Given the description of an element on the screen output the (x, y) to click on. 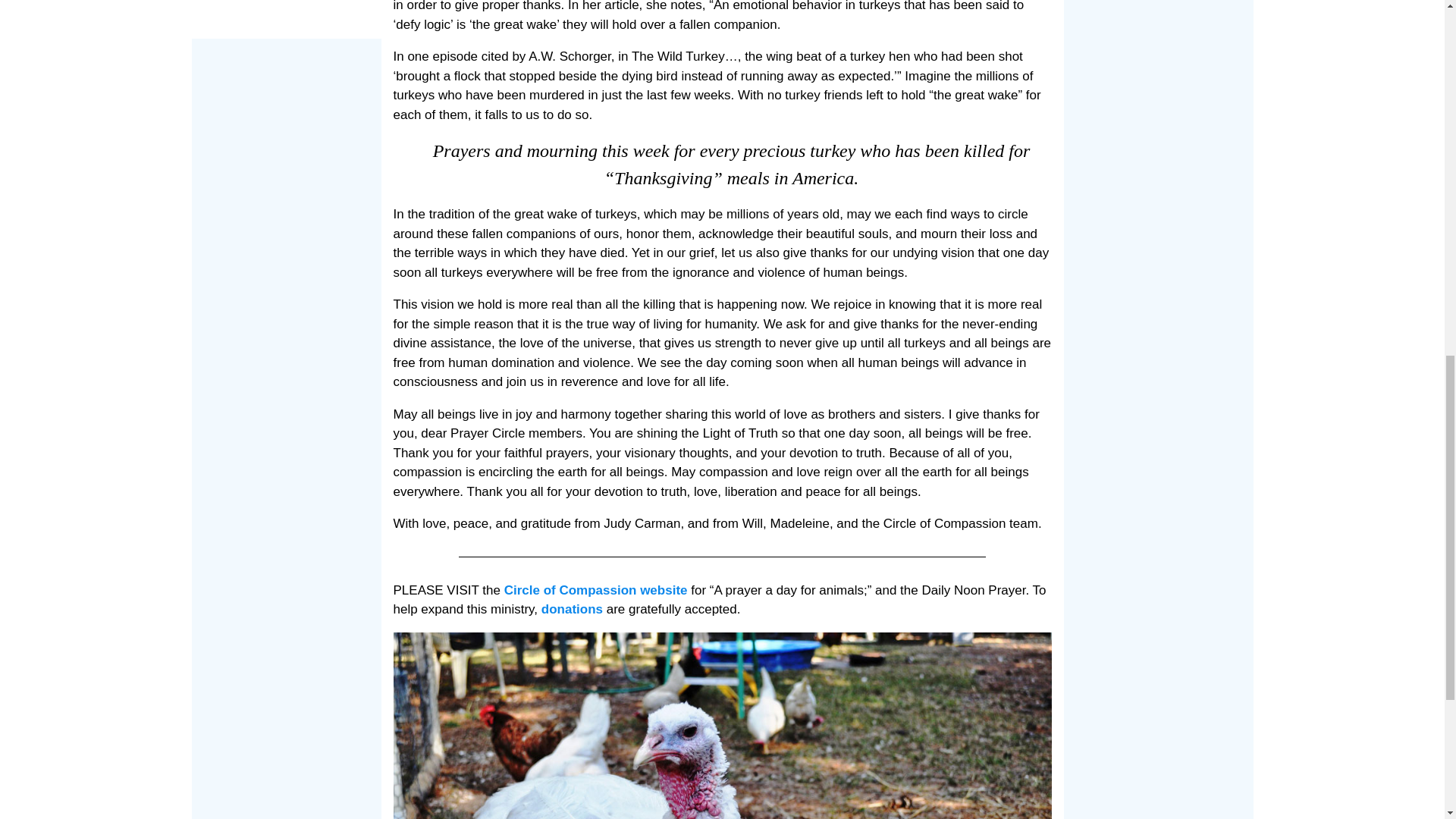
donations (574, 608)
Circle of Compassion website (595, 590)
